Given the description of an element on the screen output the (x, y) to click on. 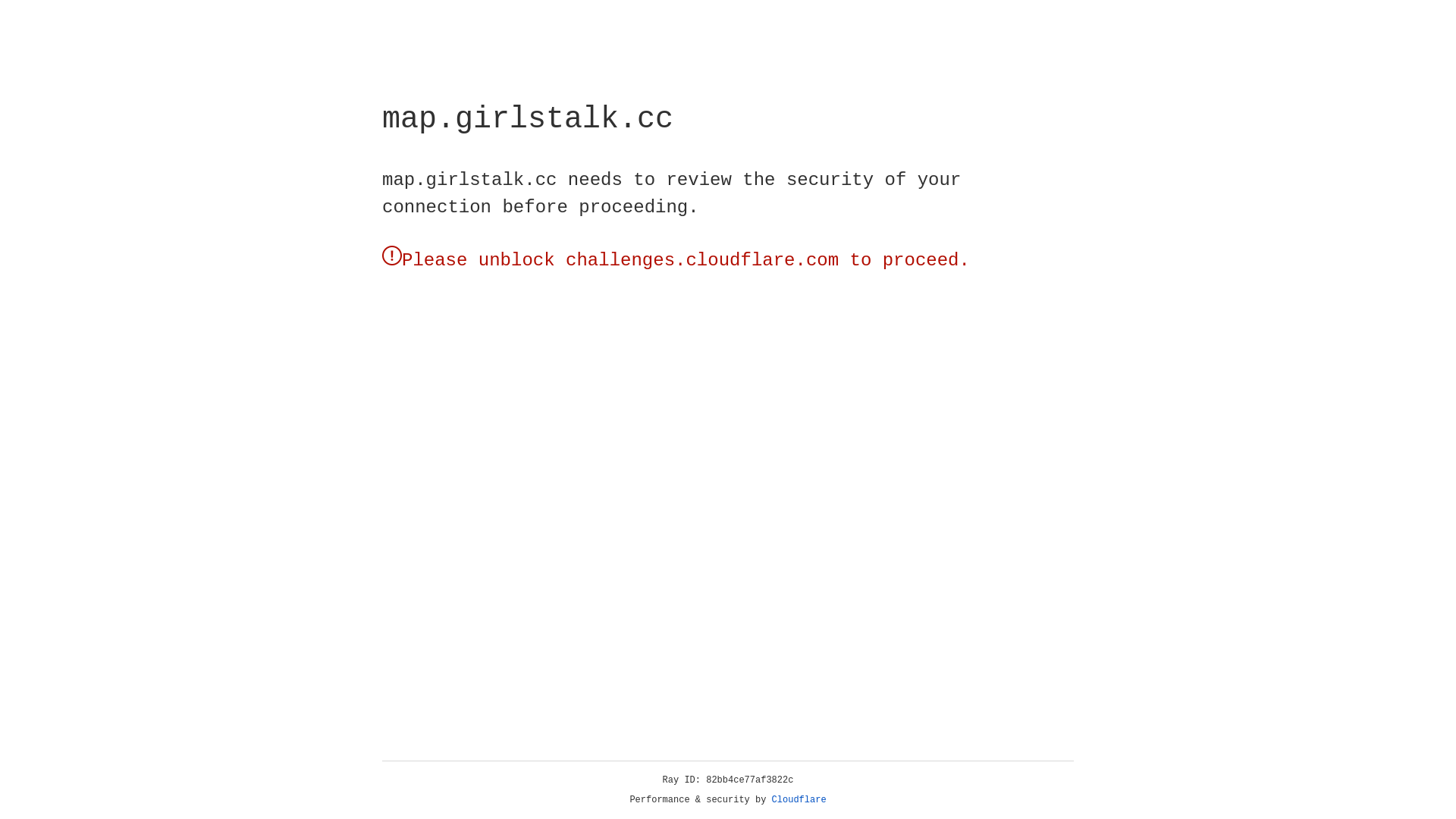
Cloudflare Element type: text (798, 799)
